Given the description of an element on the screen output the (x, y) to click on. 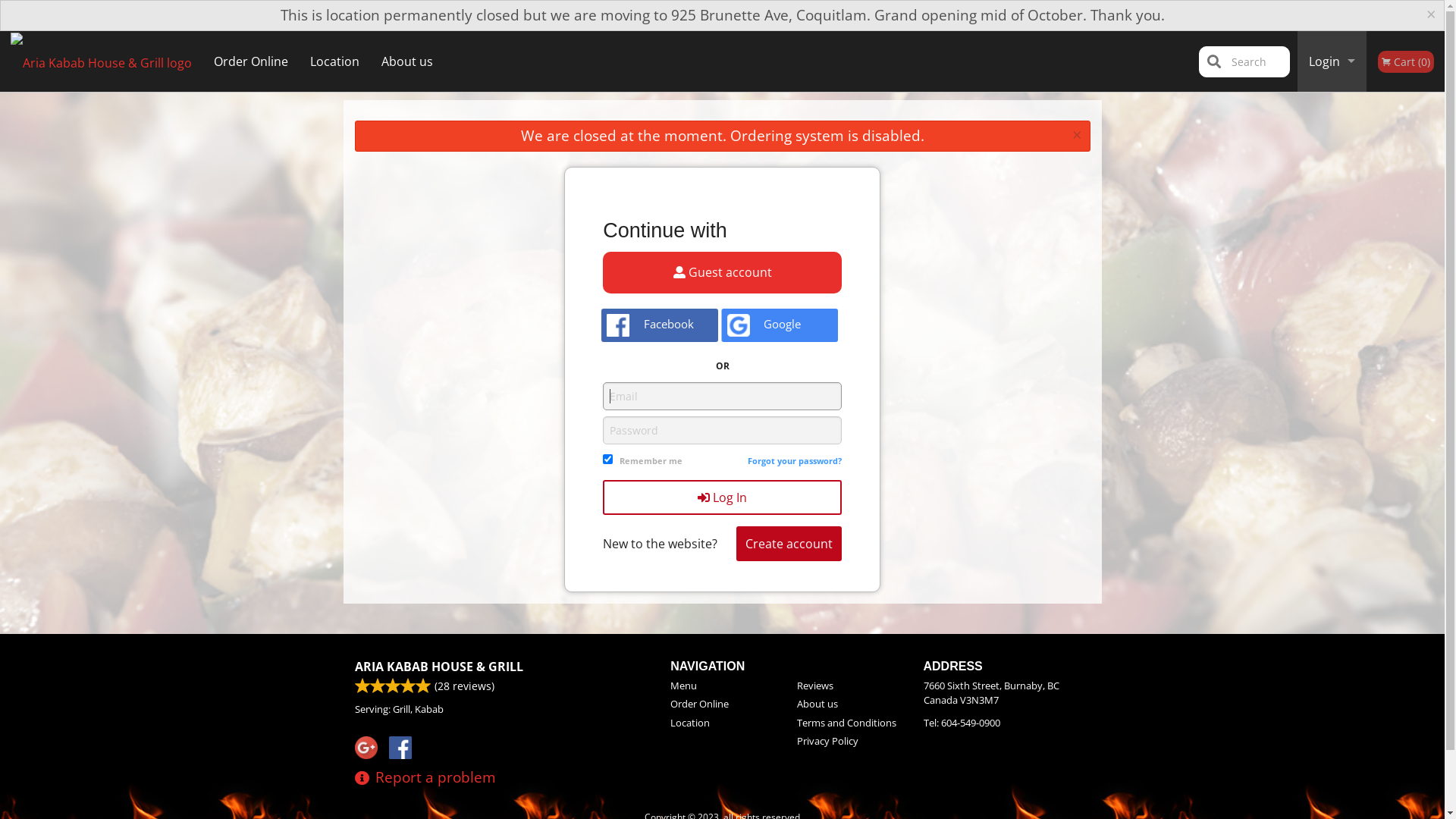
Location Element type: text (722, 722)
Privacy Policy Element type: text (848, 741)
Tel: 604-549-0900 Element type: text (1006, 722)
About us Element type: text (406, 61)
Registration Element type: text (1331, 121)
Facebook Element type: text (659, 325)
Log In Element type: text (721, 497)
(28 reviews) Element type: text (577, 685)
Forgot your password? Element type: text (794, 460)
Menu Element type: text (722, 685)
Reviews Element type: text (848, 685)
Terms and Conditions Element type: text (848, 722)
Create account Element type: text (788, 543)
Google Element type: text (778, 325)
Order Online Element type: text (251, 61)
Report a problem Element type: text (424, 777)
ARIA KABAB HOUSE & GRILL Element type: text (438, 666)
About us Element type: text (848, 703)
7660 Sixth Street, Burnaby, BC Canada V3N3M7 Element type: text (1006, 692)
Login Element type: text (1331, 61)
Location Element type: text (334, 61)
Order Online Element type: text (722, 703)
Guest account Element type: text (721, 272)
